Given the description of an element on the screen output the (x, y) to click on. 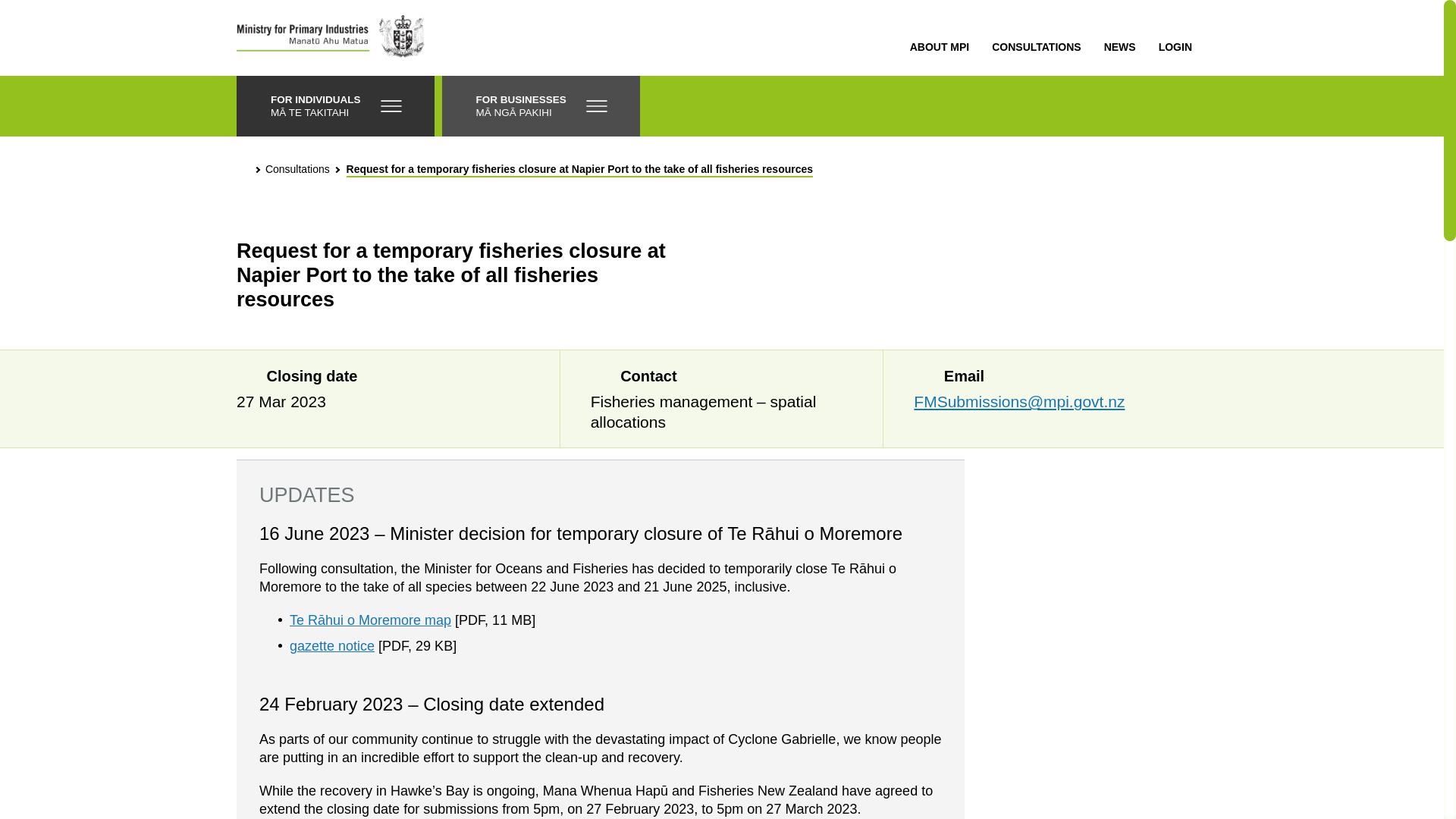
ABOUT MPI (939, 46)
LOGIN (1175, 46)
Skip to main content (32, 25)
NEWS (1119, 46)
CONSULTATIONS (1035, 46)
MPI Home (242, 169)
Consultations (297, 169)
Ministry for Primary Industries (330, 38)
